Given the description of an element on the screen output the (x, y) to click on. 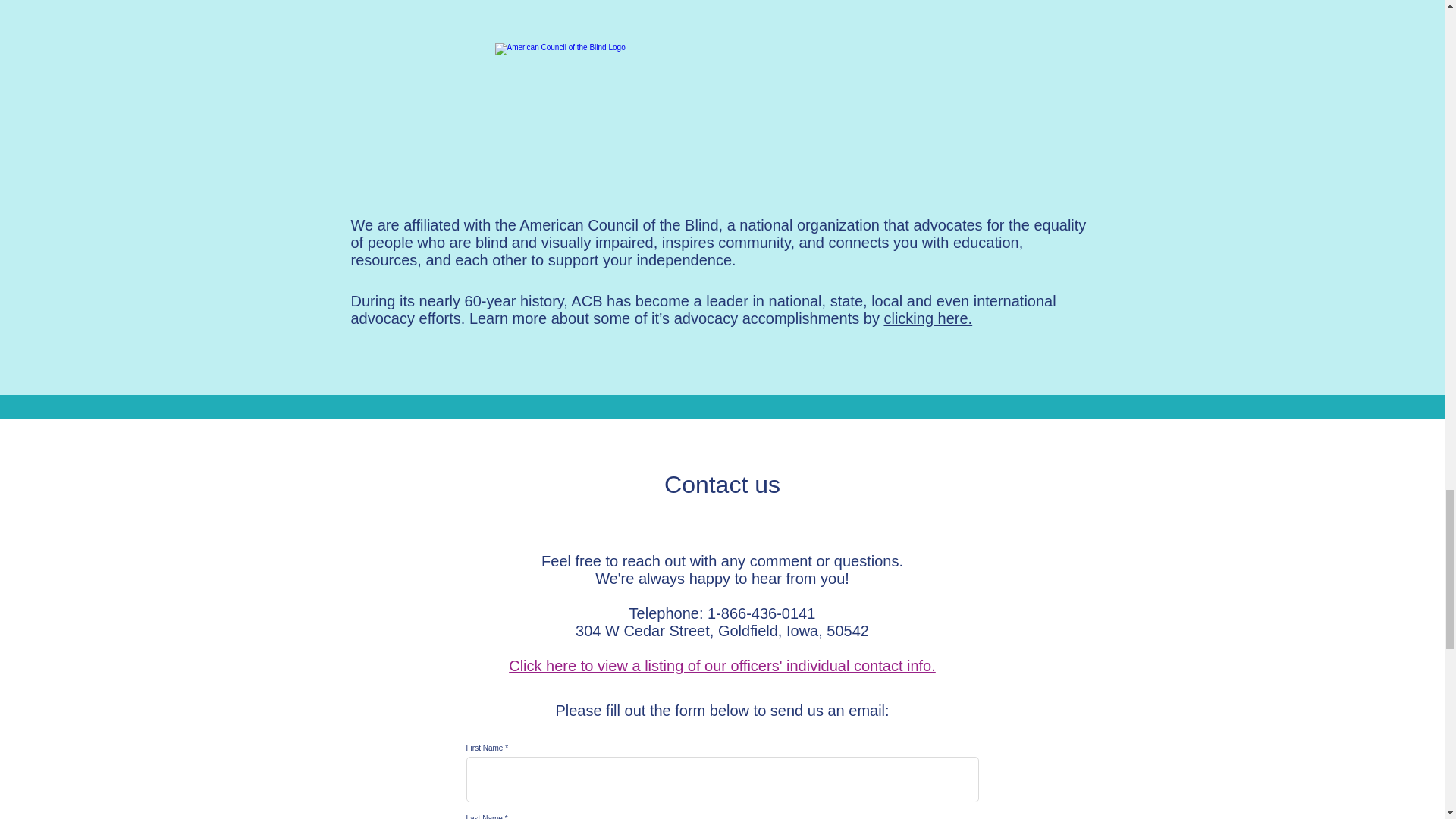
American Council of the Blind Logo (722, 105)
clicking here. (927, 318)
